Given the description of an element on the screen output the (x, y) to click on. 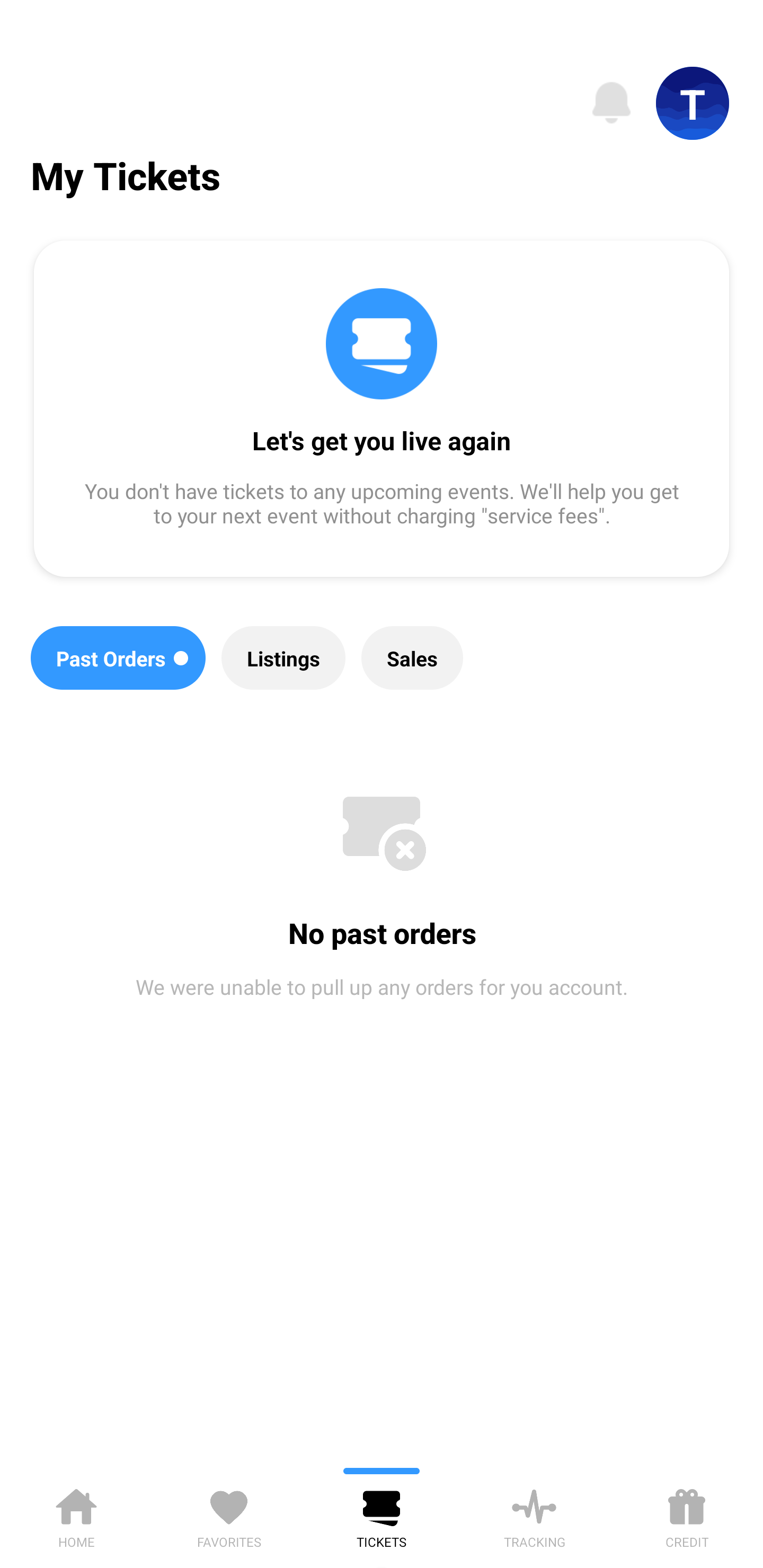
T (692, 103)
Past Orders (117, 657)
Listings (283, 657)
Sales (412, 657)
HOME (76, 1515)
FAVORITES (228, 1515)
TICKETS (381, 1515)
TRACKING (533, 1515)
CREDIT (686, 1515)
